Given the description of an element on the screen output the (x, y) to click on. 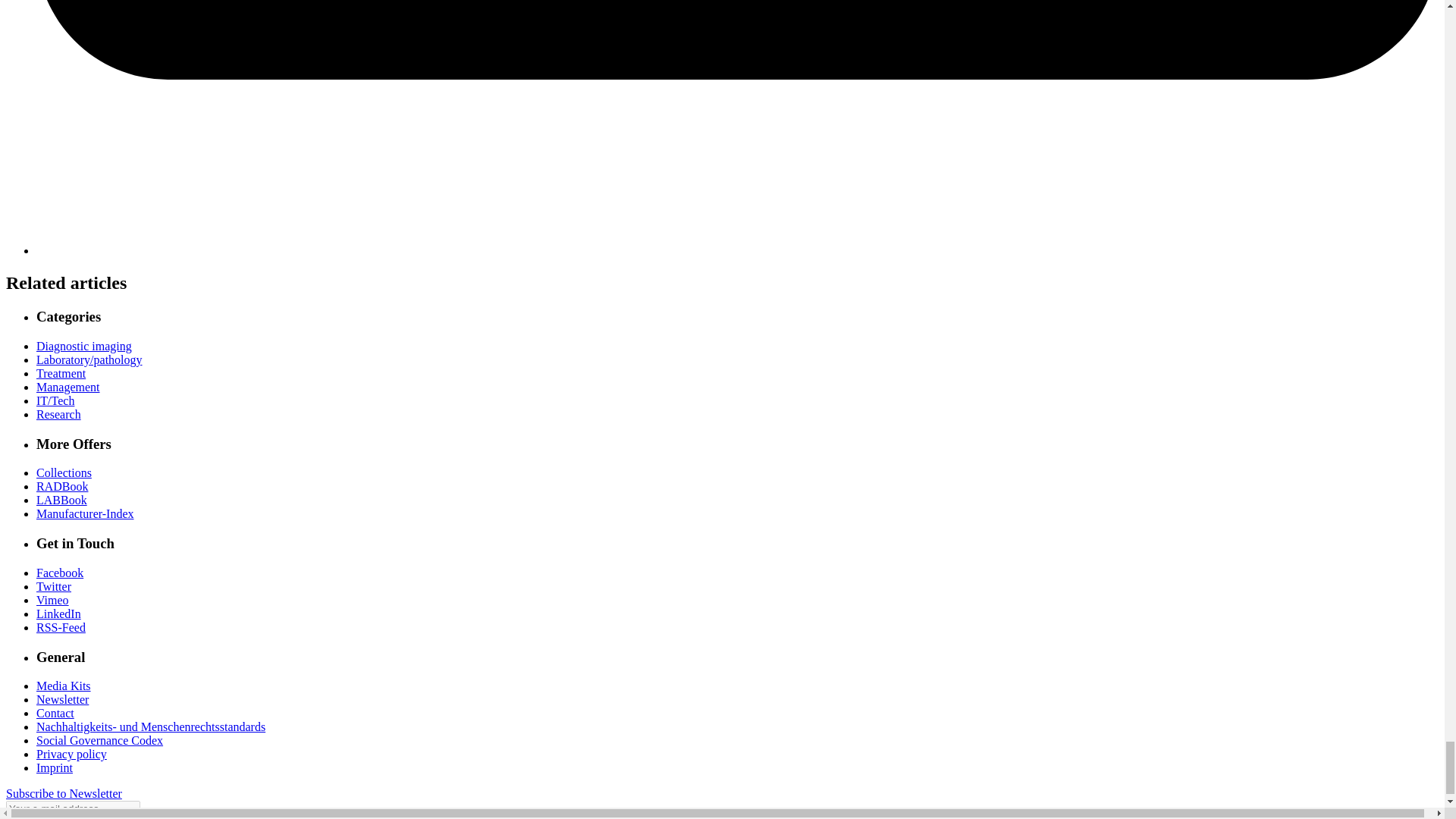
Management (68, 386)
Diagnostic imaging (84, 345)
Treatment (60, 373)
Collections (63, 472)
LABBook (61, 499)
RADBook (61, 486)
Research (58, 413)
Facebook (59, 572)
Manufacturer-Index (84, 513)
